Given the description of an element on the screen output the (x, y) to click on. 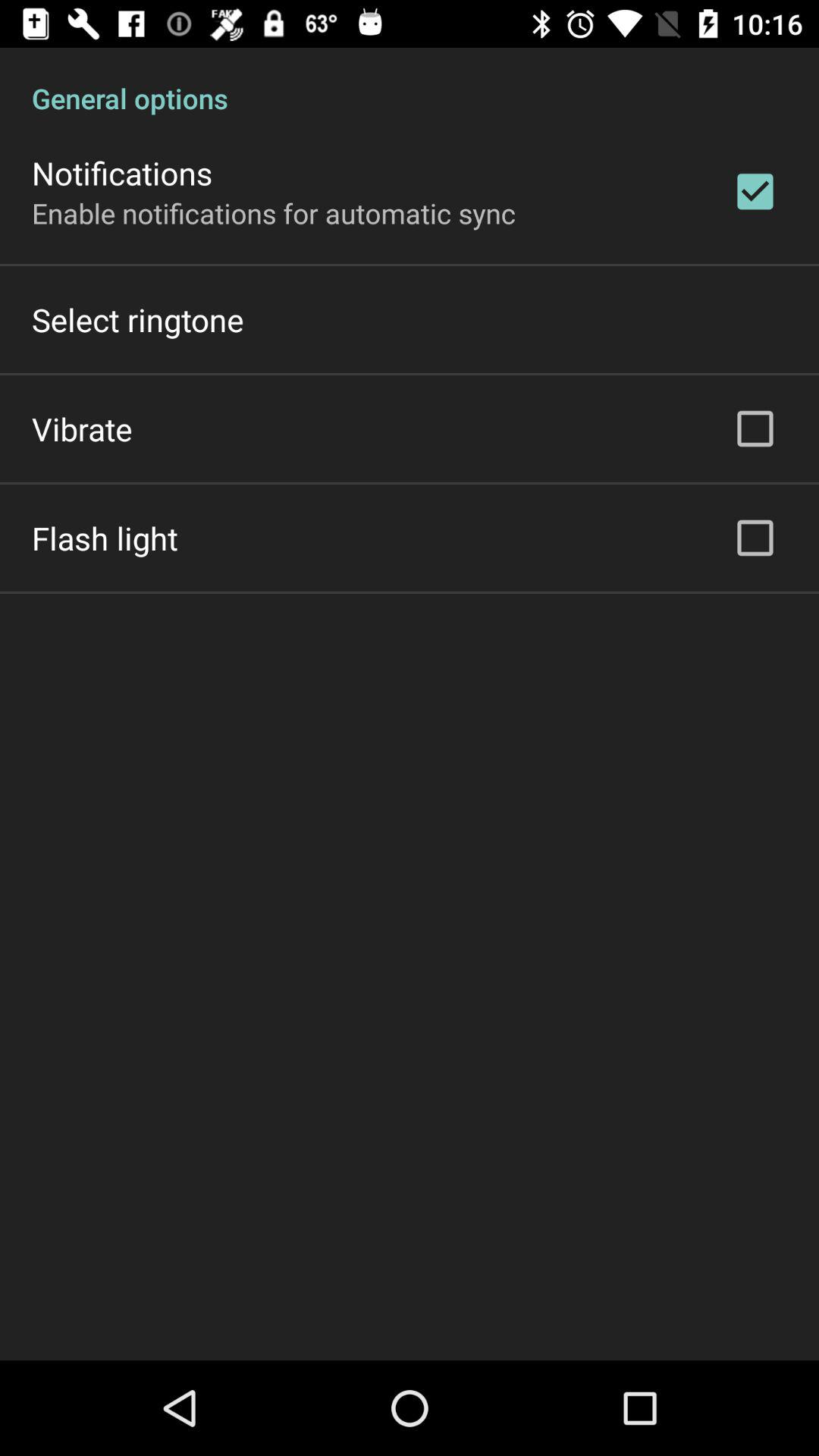
turn on the item above the vibrate icon (137, 319)
